Given the description of an element on the screen output the (x, y) to click on. 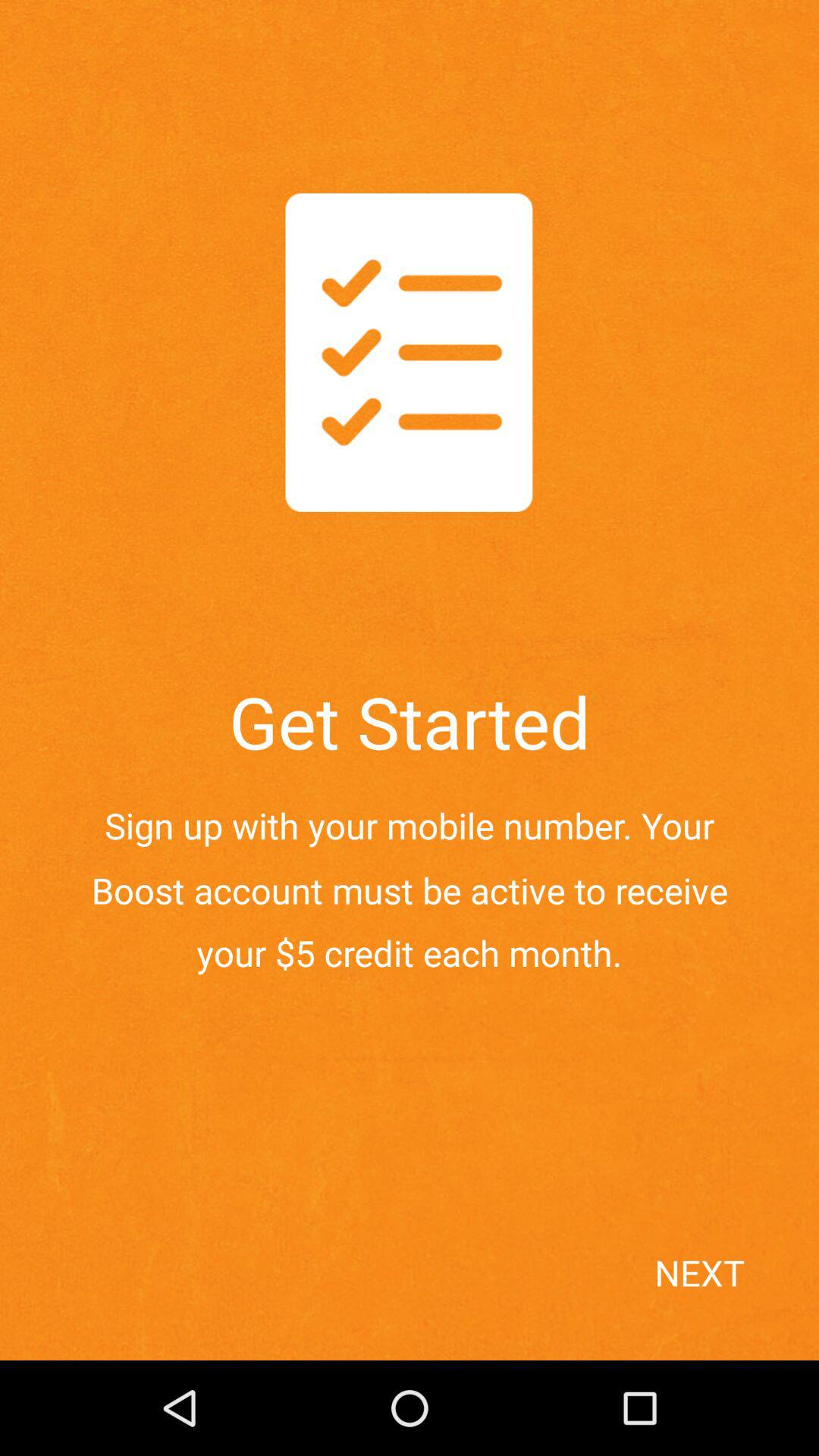
turn on the icon below the sign up with app (731, 1300)
